Given the description of an element on the screen output the (x, y) to click on. 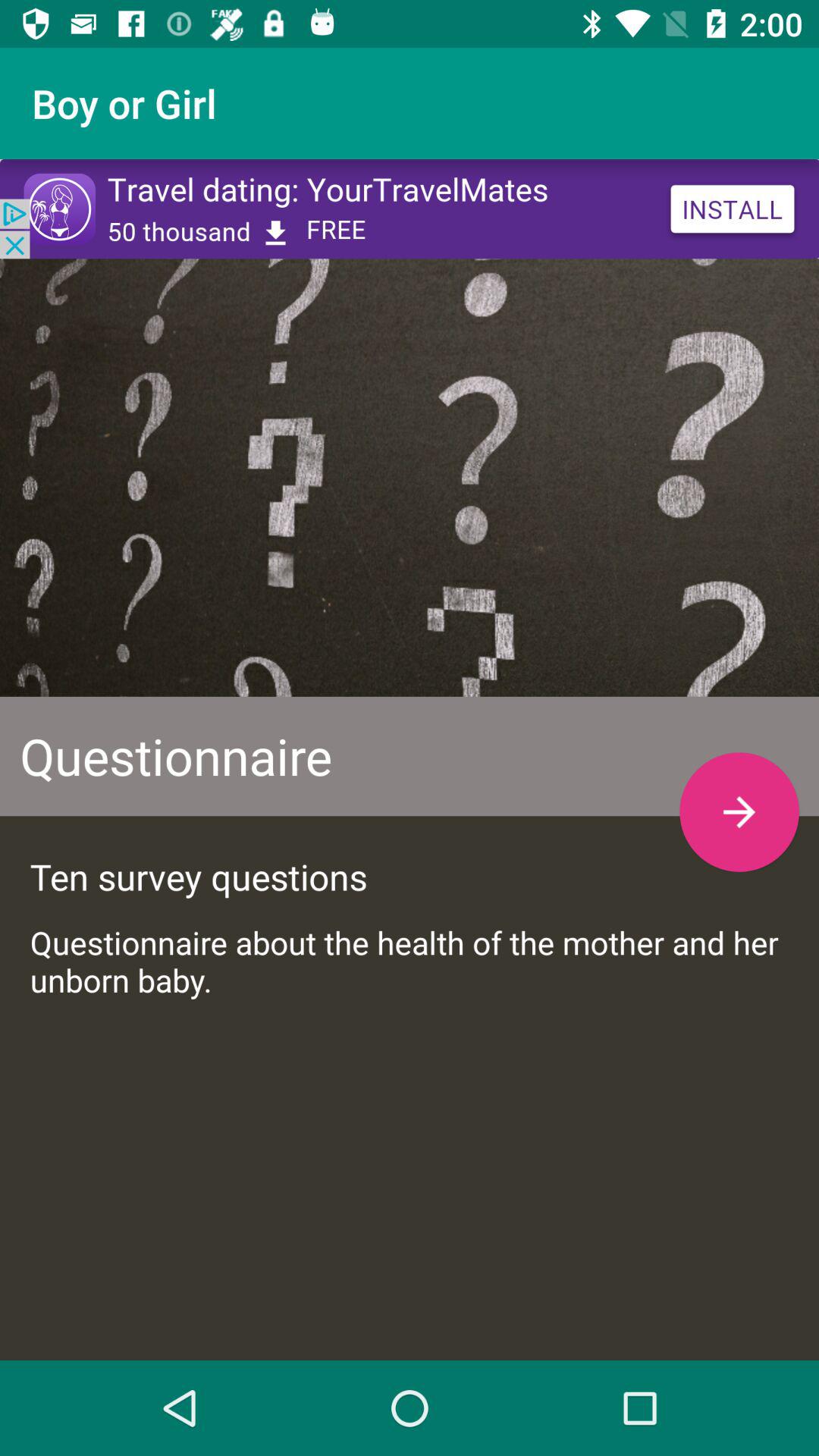
go forward (739, 811)
